Given the description of an element on the screen output the (x, y) to click on. 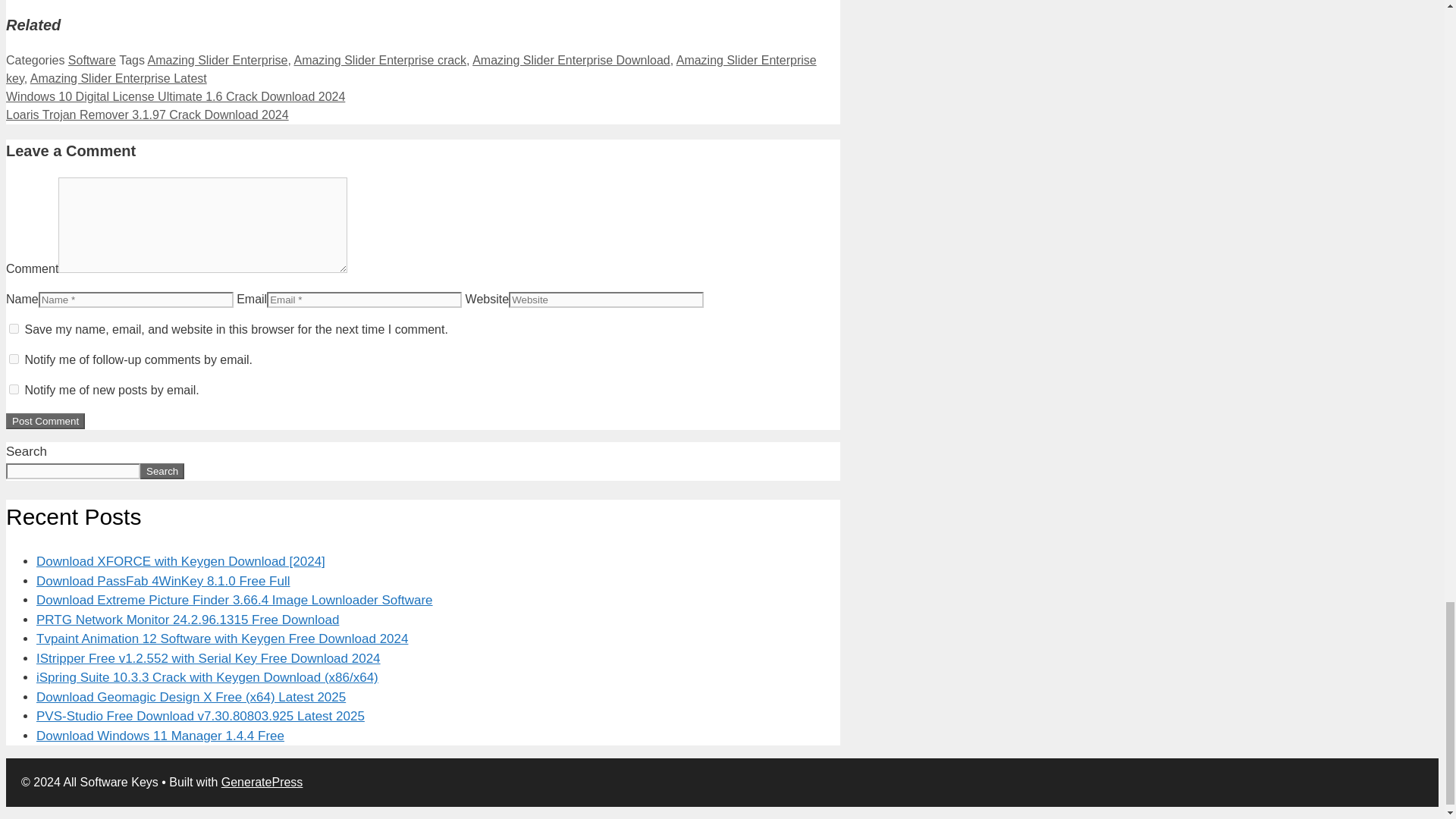
Post Comment (44, 421)
subscribe (13, 358)
Software (92, 60)
subscribe (13, 388)
yes (13, 328)
